Given the description of an element on the screen output the (x, y) to click on. 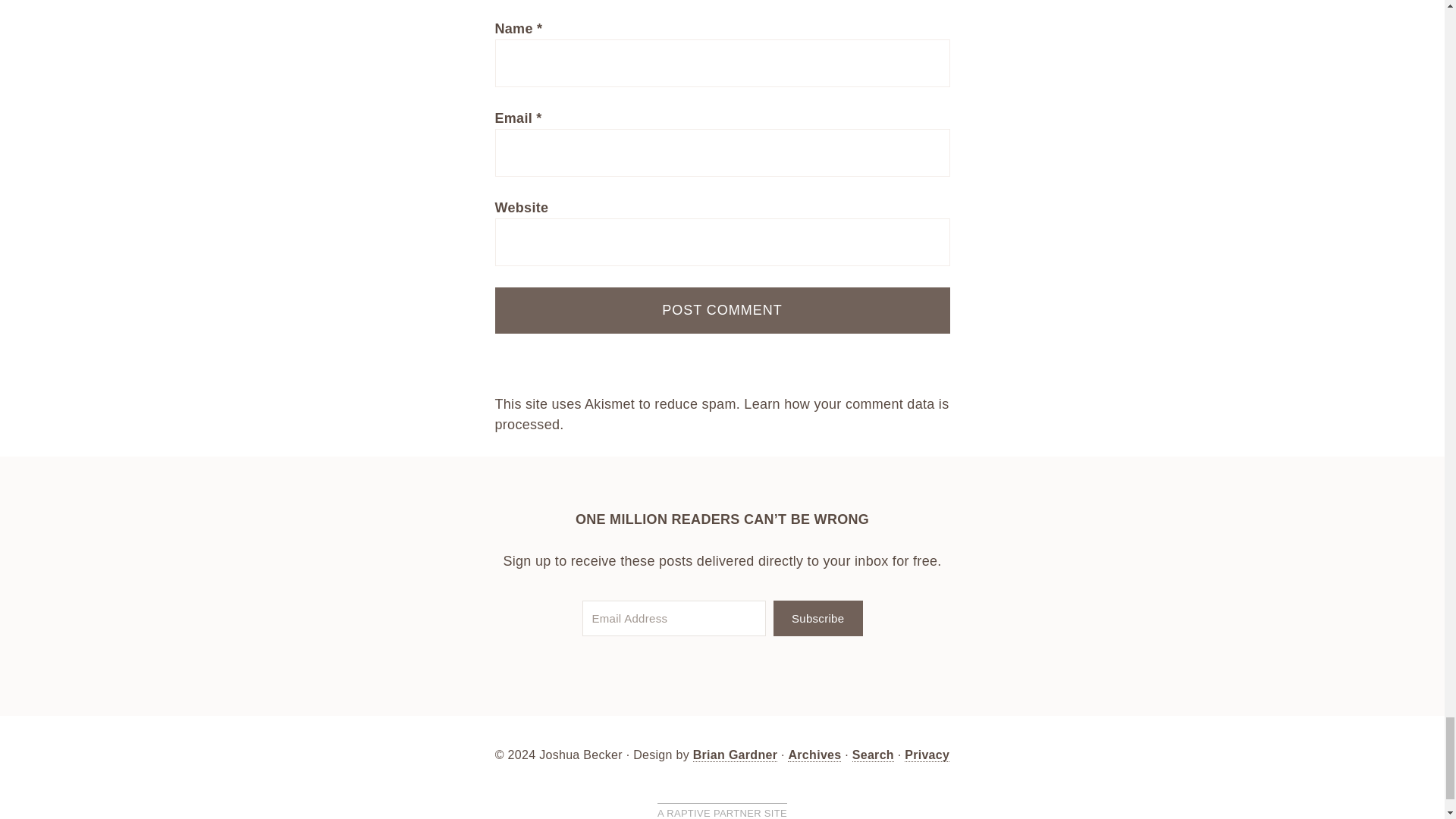
Archives (814, 755)
Brian Gardner (735, 755)
Post Comment (722, 310)
Privacy (926, 755)
Subscribe (818, 618)
Search (872, 755)
Learn how your comment data is processed (722, 414)
Post Comment (722, 310)
